Given the description of an element on the screen output the (x, y) to click on. 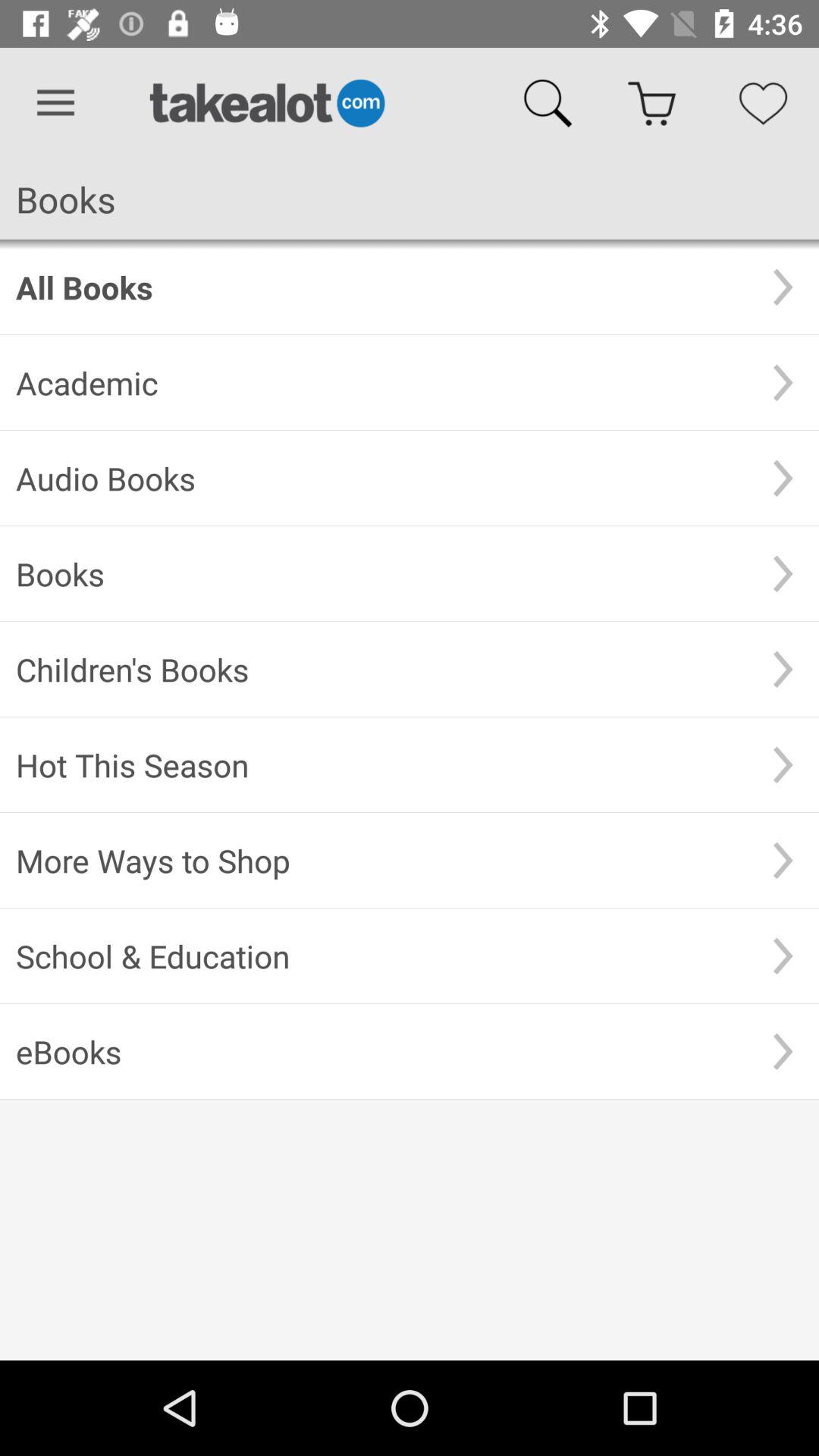
jump until the children's books icon (381, 669)
